Given the description of an element on the screen output the (x, y) to click on. 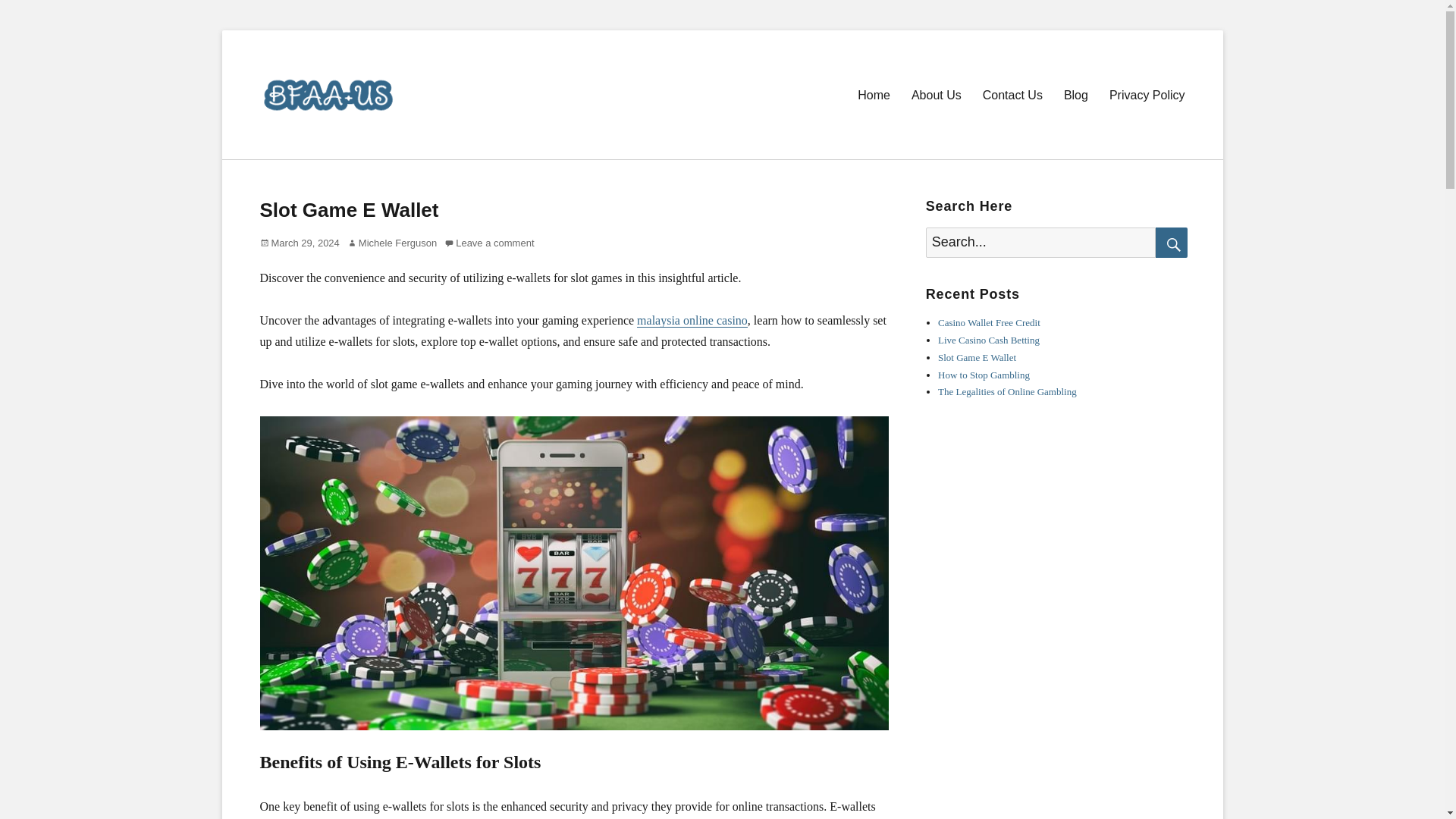
Leave a comment (489, 242)
Casino Wallet Free Credit (989, 322)
Live Casino Cash Betting (988, 339)
Contact Us (1012, 94)
Privacy Policy (1147, 94)
Blog (1075, 94)
Michele Ferguson (391, 242)
Slot Game E Wallet (976, 357)
Search for: (1041, 242)
March 29, 2024 (299, 242)
